Given the description of an element on the screen output the (x, y) to click on. 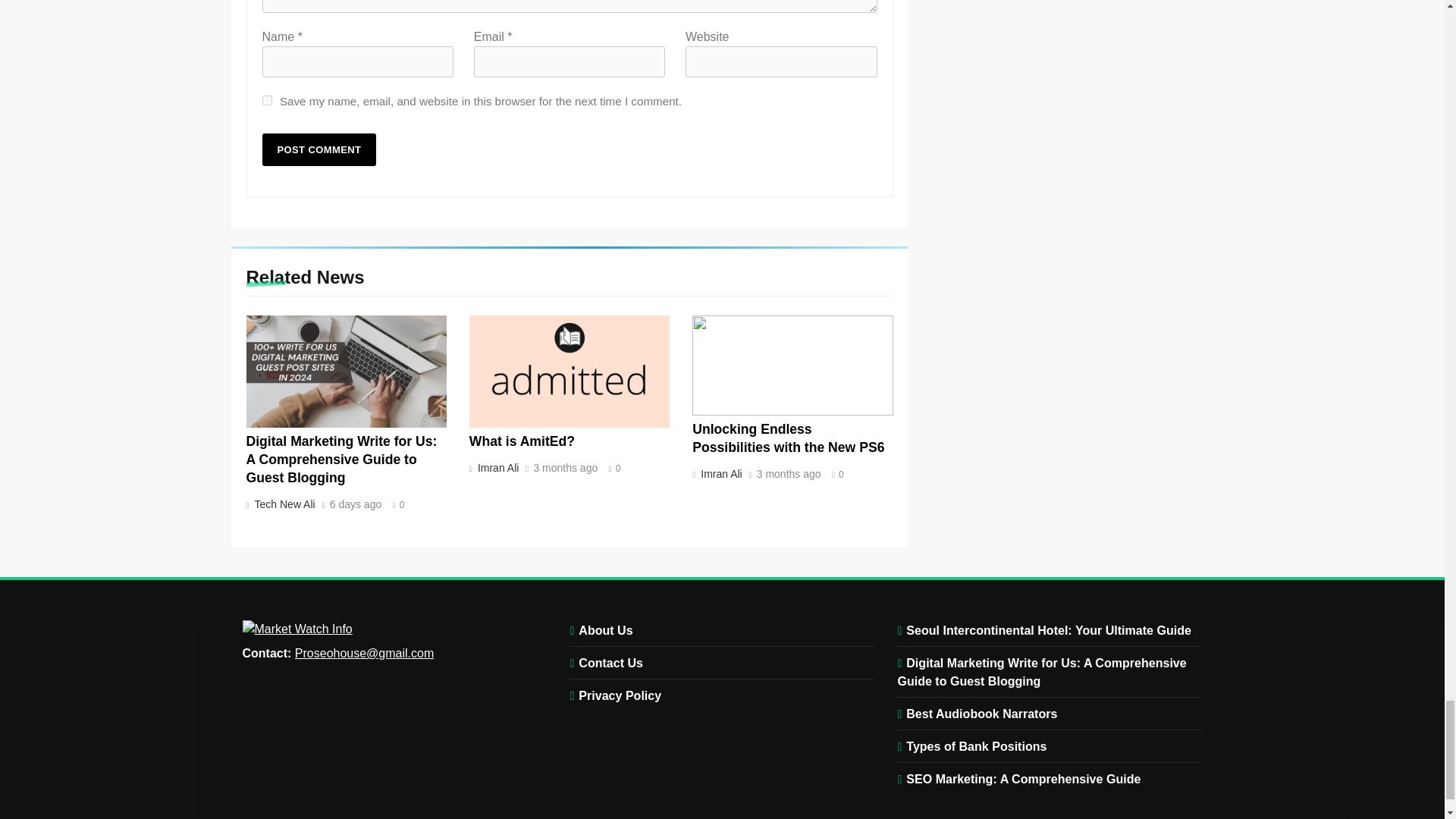
Post Comment (319, 149)
yes (267, 100)
